Given the description of an element on the screen output the (x, y) to click on. 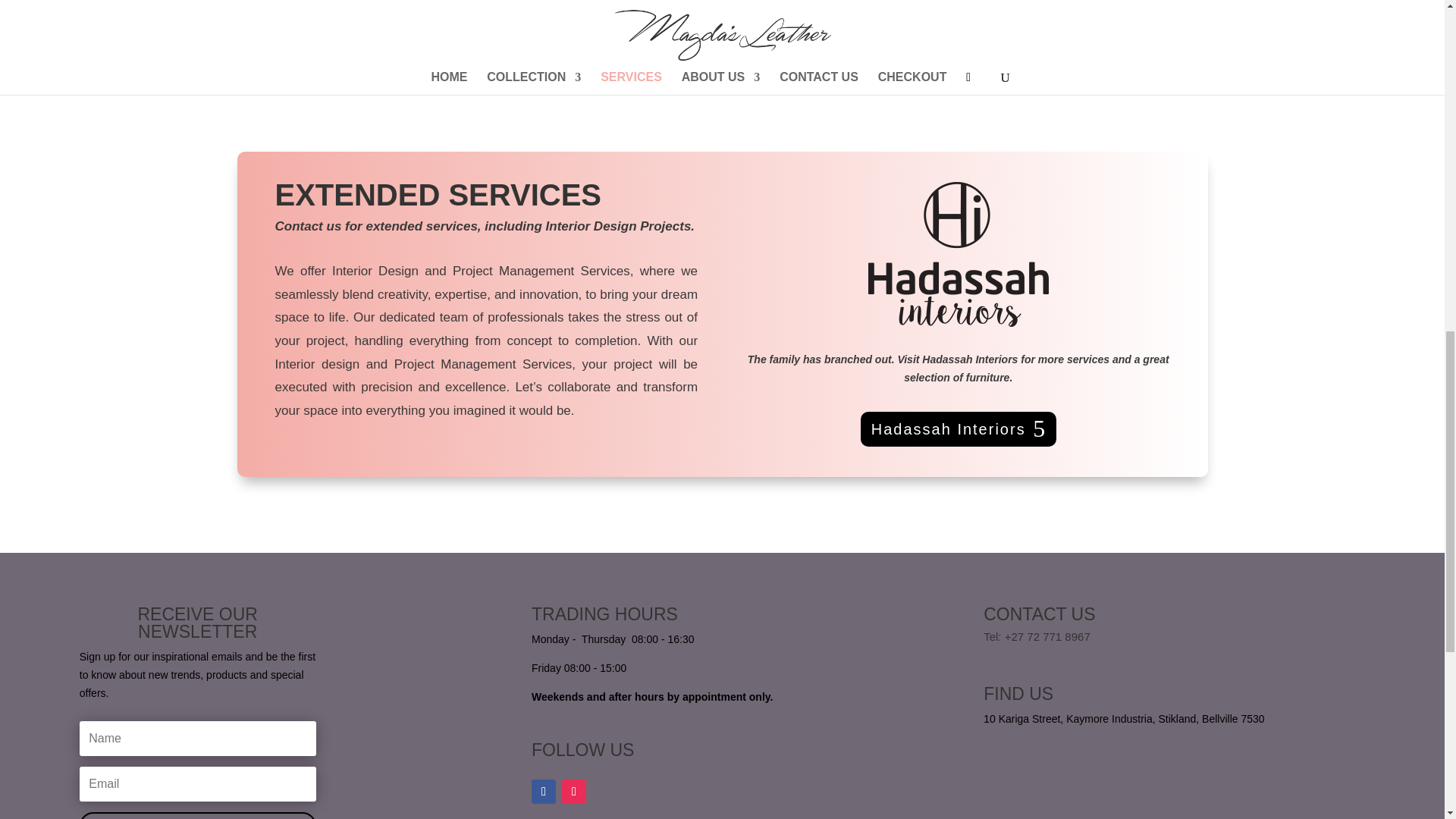
Follow on Instagram (574, 791)
SUBSCRIBE (197, 815)
Hadassah Logo (957, 253)
Follow on Facebook (543, 791)
Hadassah Interiors (958, 428)
